Given the description of an element on the screen output the (x, y) to click on. 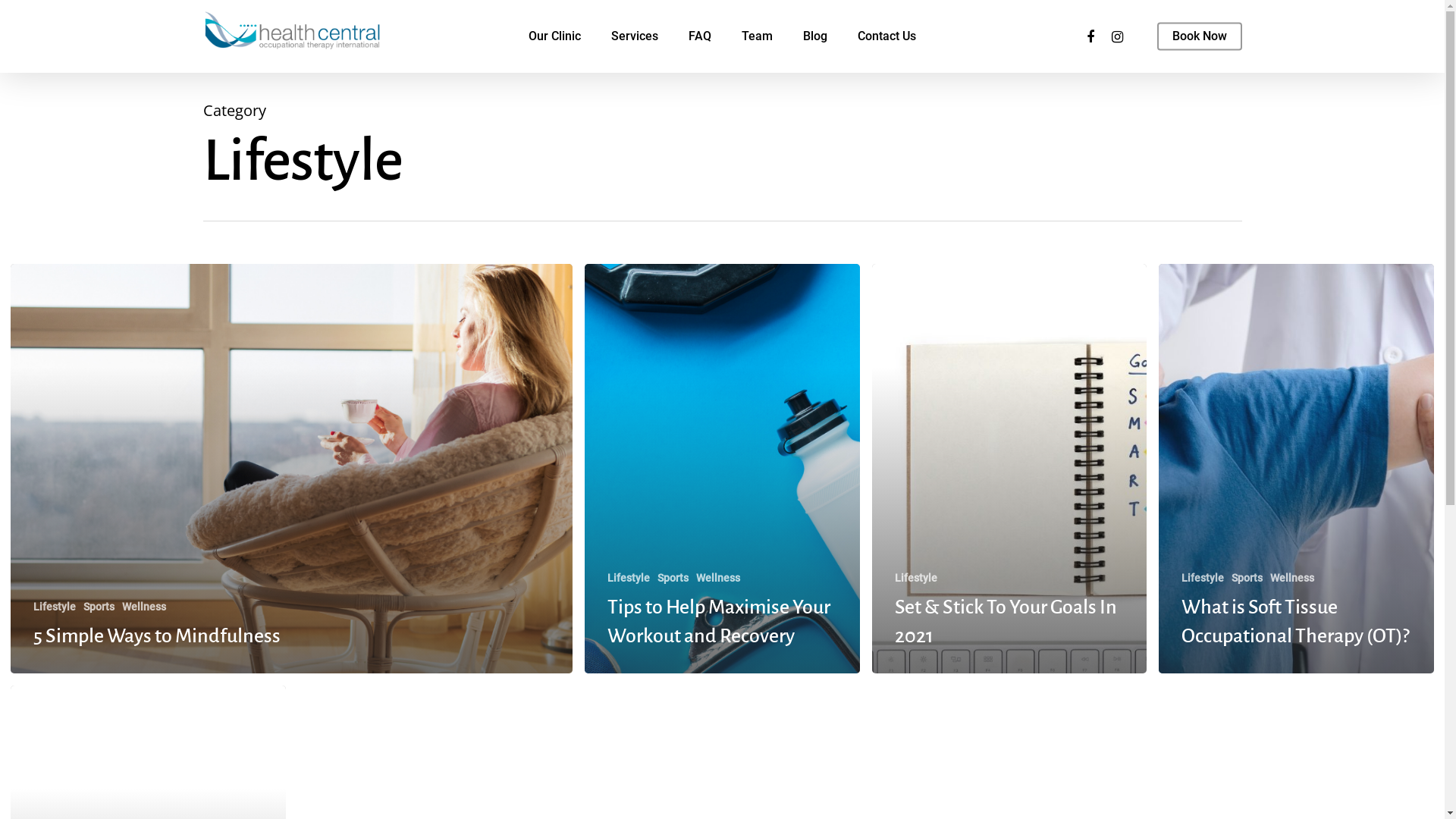
Lifestyle Element type: text (54, 606)
facebook Element type: text (1090, 36)
Set & Stick To Your Goals In 2021 Element type: text (1005, 621)
FAQ Element type: text (699, 36)
instagram Element type: text (1117, 36)
Team Element type: text (756, 36)
Sports Element type: text (672, 578)
Sports Element type: text (98, 606)
pinterest Element type: text (695, 709)
phone Element type: text (801, 709)
Wellness Element type: text (144, 606)
Wellness Element type: text (1292, 578)
Book Now Element type: text (1199, 36)
Wellness Element type: text (718, 578)
Lifestyle Element type: text (1202, 578)
Tips to Help Maximise Your Workout and Recovery Element type: text (718, 621)
What is Soft Tissue Occupational Therapy (OT)? Element type: text (1294, 621)
Contact Us Element type: text (886, 36)
Blog Element type: text (815, 36)
facebook Element type: text (642, 709)
5 Simple Ways to Mindfulness Element type: text (156, 635)
Our Clinic Element type: text (554, 36)
Sports Element type: text (1246, 578)
Lifestyle Element type: text (628, 578)
instagram Element type: text (748, 709)
Lifestyle Element type: text (915, 578)
Services Element type: text (634, 36)
